Given the description of an element on the screen output the (x, y) to click on. 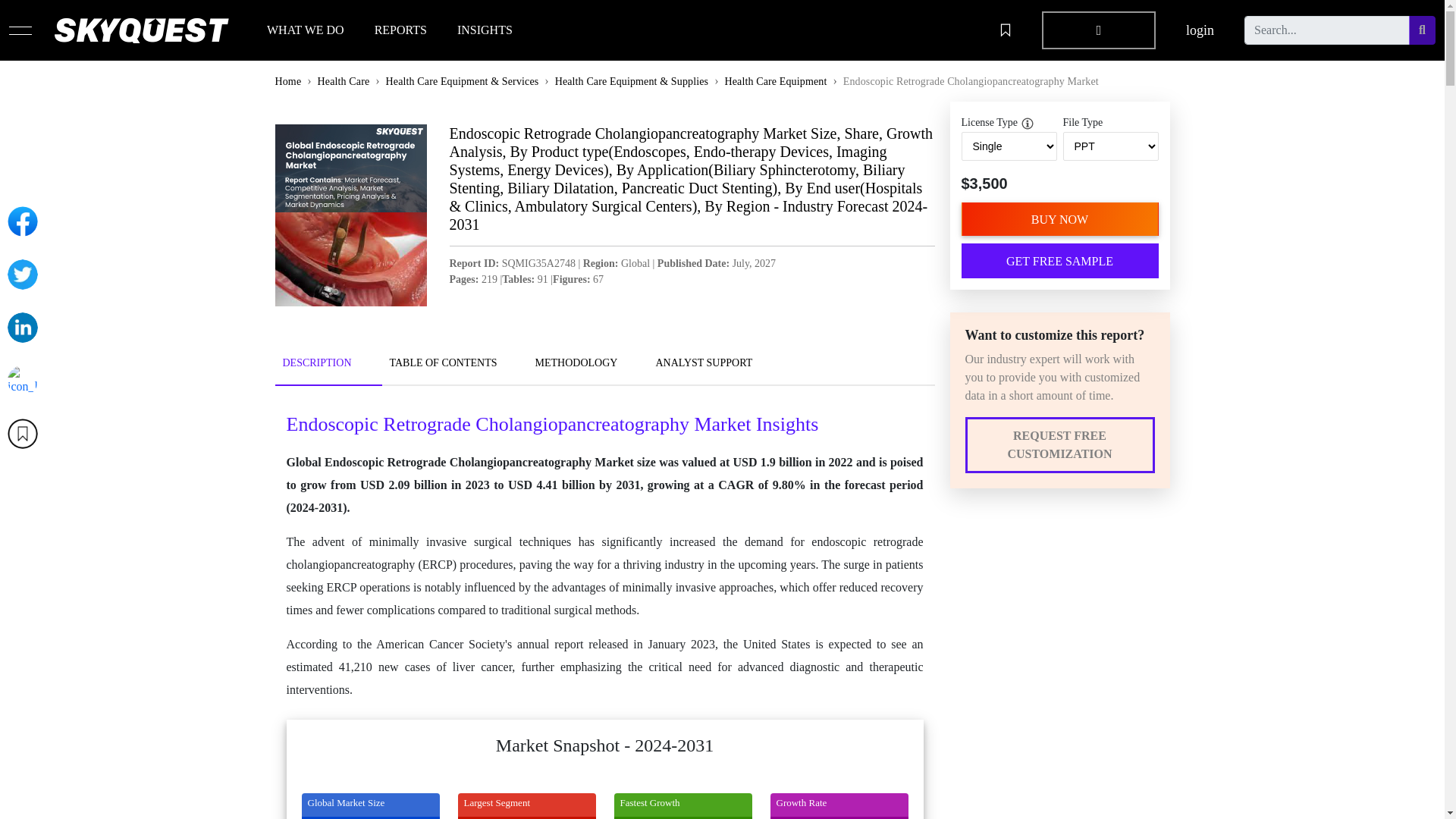
Reports (311, 601)
Technology Services (563, 556)
linkedin (981, 601)
Contact Us (319, 645)
Privacy Policy (766, 556)
Insights (311, 623)
facebook (983, 579)
Data Analytics Services (570, 623)
About (307, 579)
Linkedin (22, 327)
Home (306, 556)
Innovation Services (561, 579)
Twitter (22, 274)
WHAT WE DO (304, 30)
International Development (577, 601)
